Given the description of an element on the screen output the (x, y) to click on. 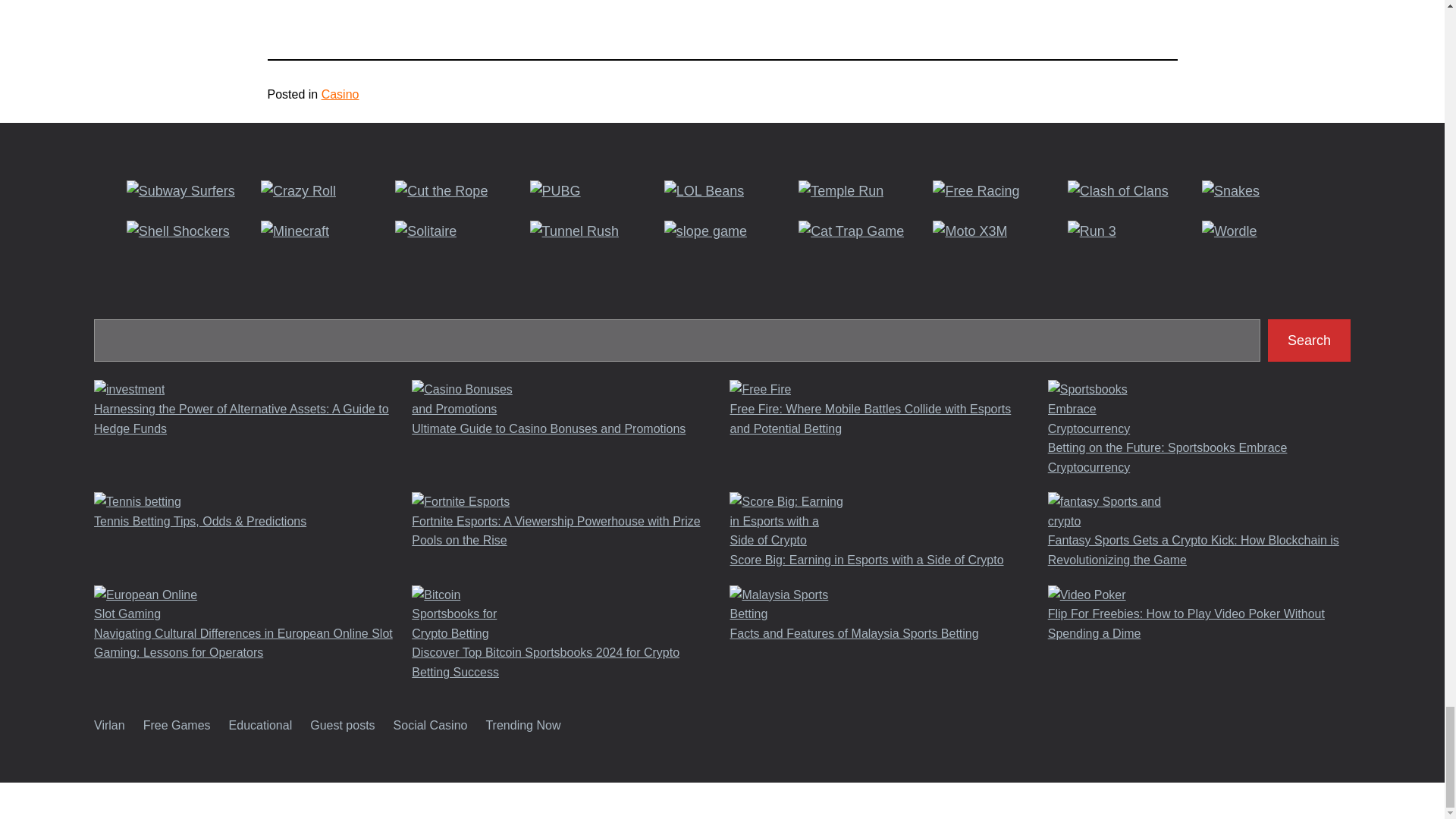
Casino (340, 93)
